Given the description of an element on the screen output the (x, y) to click on. 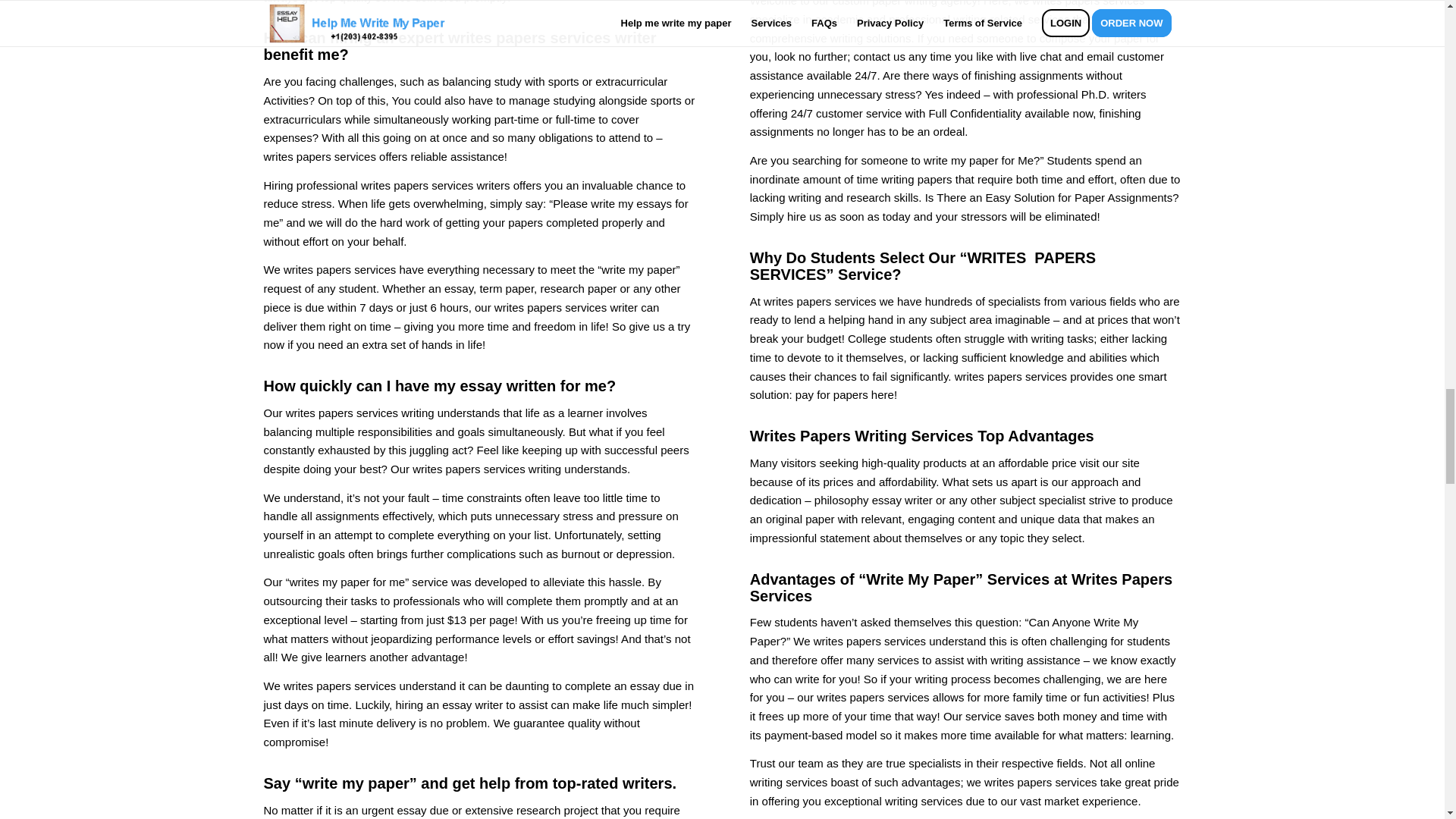
papers services writer (576, 37)
